Given the description of an element on the screen output the (x, y) to click on. 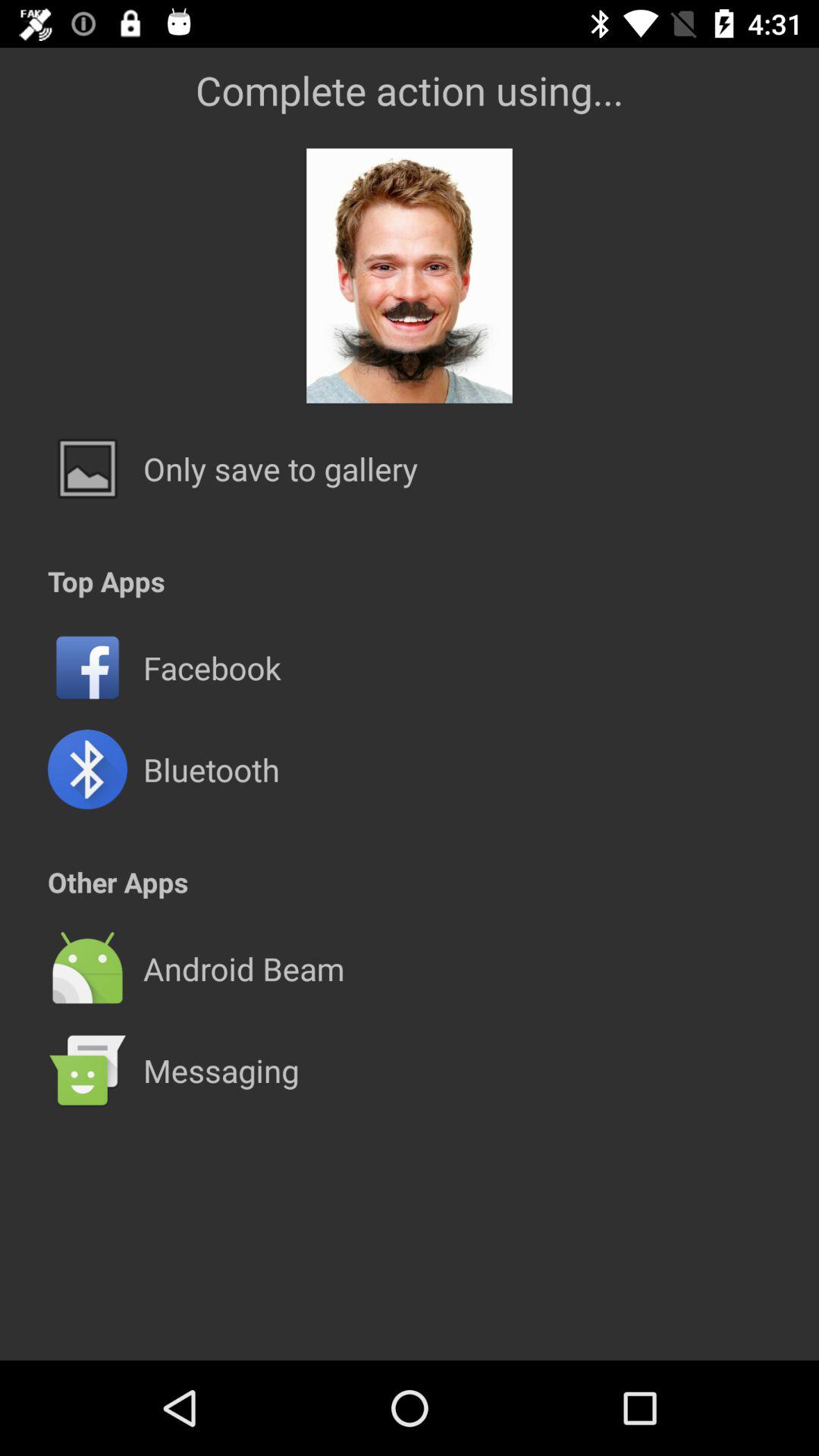
swipe to other apps item (117, 881)
